Given the description of an element on the screen output the (x, y) to click on. 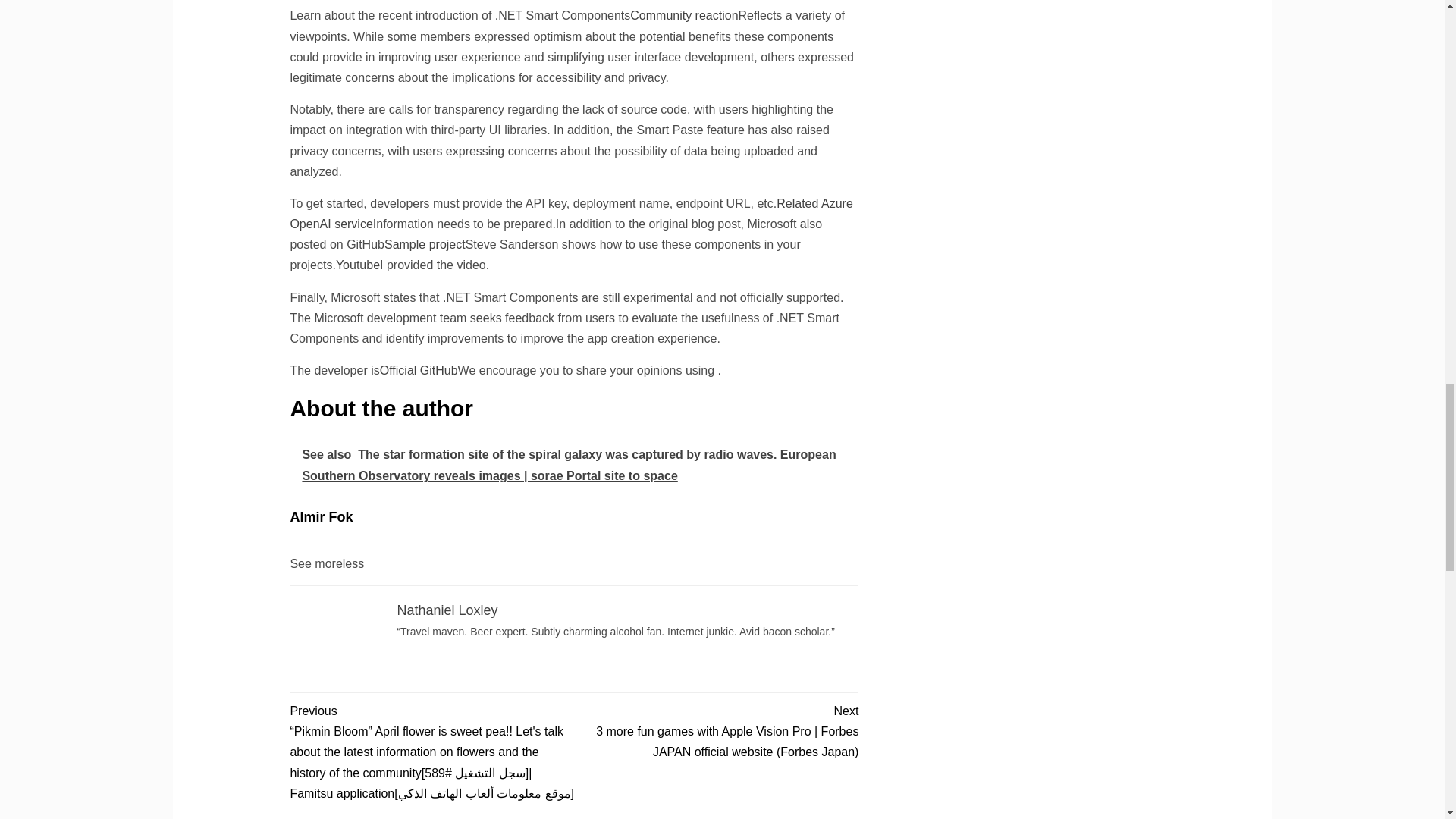
Youtube (358, 264)
Related Azure OpenAI service (570, 213)
Sample project (424, 244)
Official GitHub (419, 369)
Community reaction (684, 15)
